Given the description of an element on the screen output the (x, y) to click on. 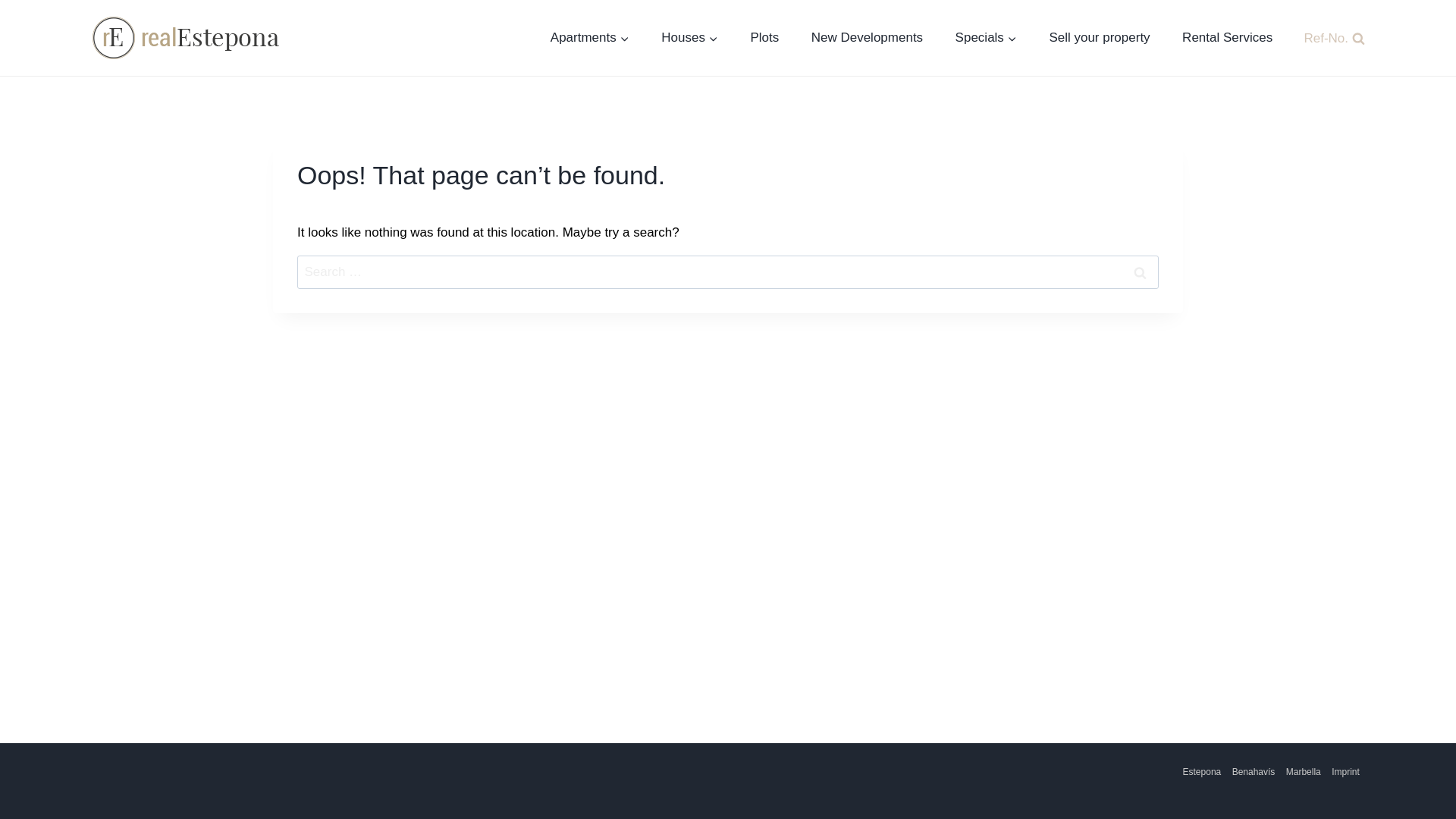
Houses (689, 37)
Search (1139, 272)
Search (1139, 272)
Specials (985, 37)
Plots (763, 37)
New Developments (866, 37)
Apartments (589, 37)
